Given the description of an element on the screen output the (x, y) to click on. 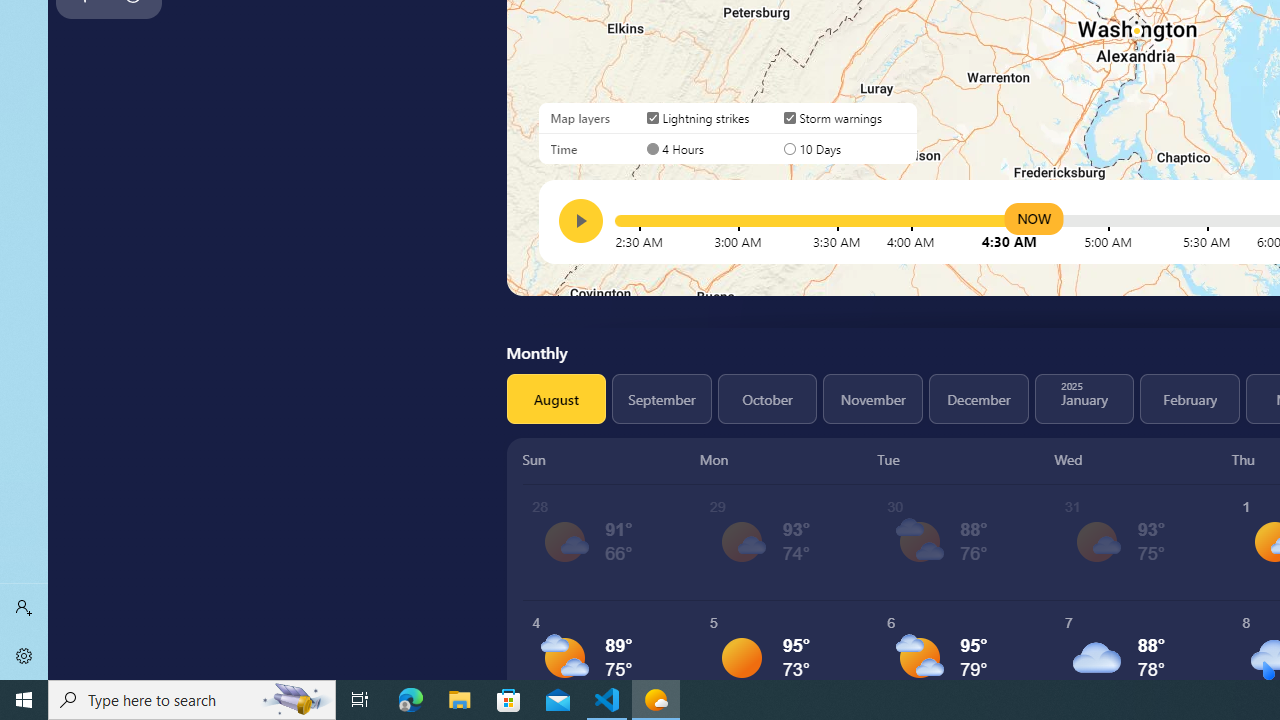
Settings (24, 655)
Sign in (24, 607)
Weather - 1 running window (656, 699)
